Given the description of an element on the screen output the (x, y) to click on. 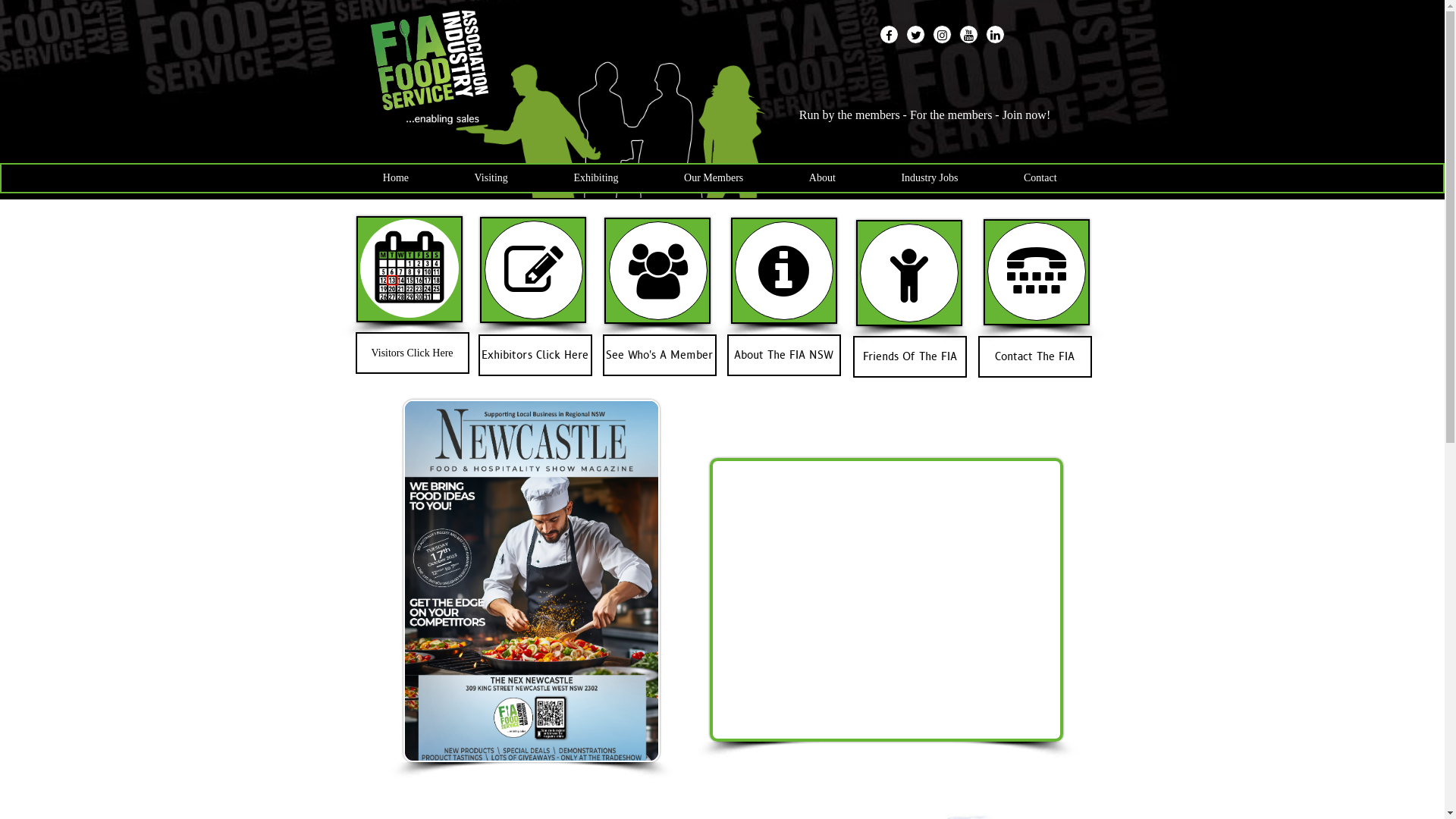
Contact The FIA Element type: text (1035, 356)
Industry Jobs Element type: text (929, 177)
Exhibitors Click Here Element type: text (534, 355)
Friends Of The FIA Element type: text (909, 356)
Our Members Element type: text (713, 177)
About The FIA NSW Element type: text (783, 355)
Visitors Click Here Element type: text (411, 352)
See Who'S A Member Element type: text (658, 355)
Visitors Element type: hover (408, 268)
Visiting Element type: text (490, 177)
Contact Element type: text (1040, 177)
About Element type: text (822, 177)
Tamworth Tradeshow Element type: hover (531, 580)
Exhibiting Element type: text (595, 177)
Home Element type: text (396, 177)
